Given the description of an element on the screen output the (x, y) to click on. 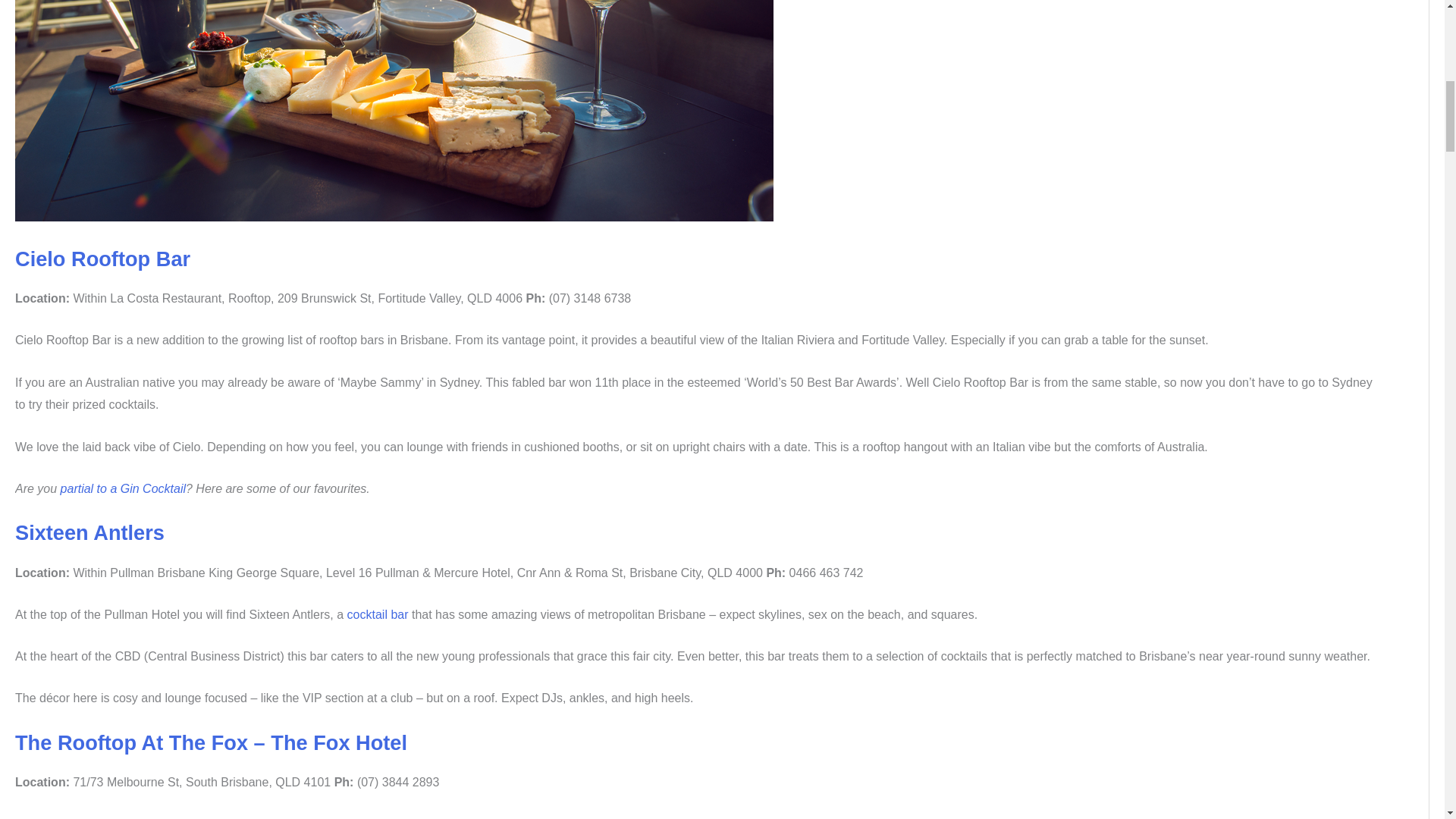
Sixteen Antlers (89, 532)
partial to a Gin Cocktail (123, 488)
Cielo Rooftop Bar (102, 259)
